Given the description of an element on the screen output the (x, y) to click on. 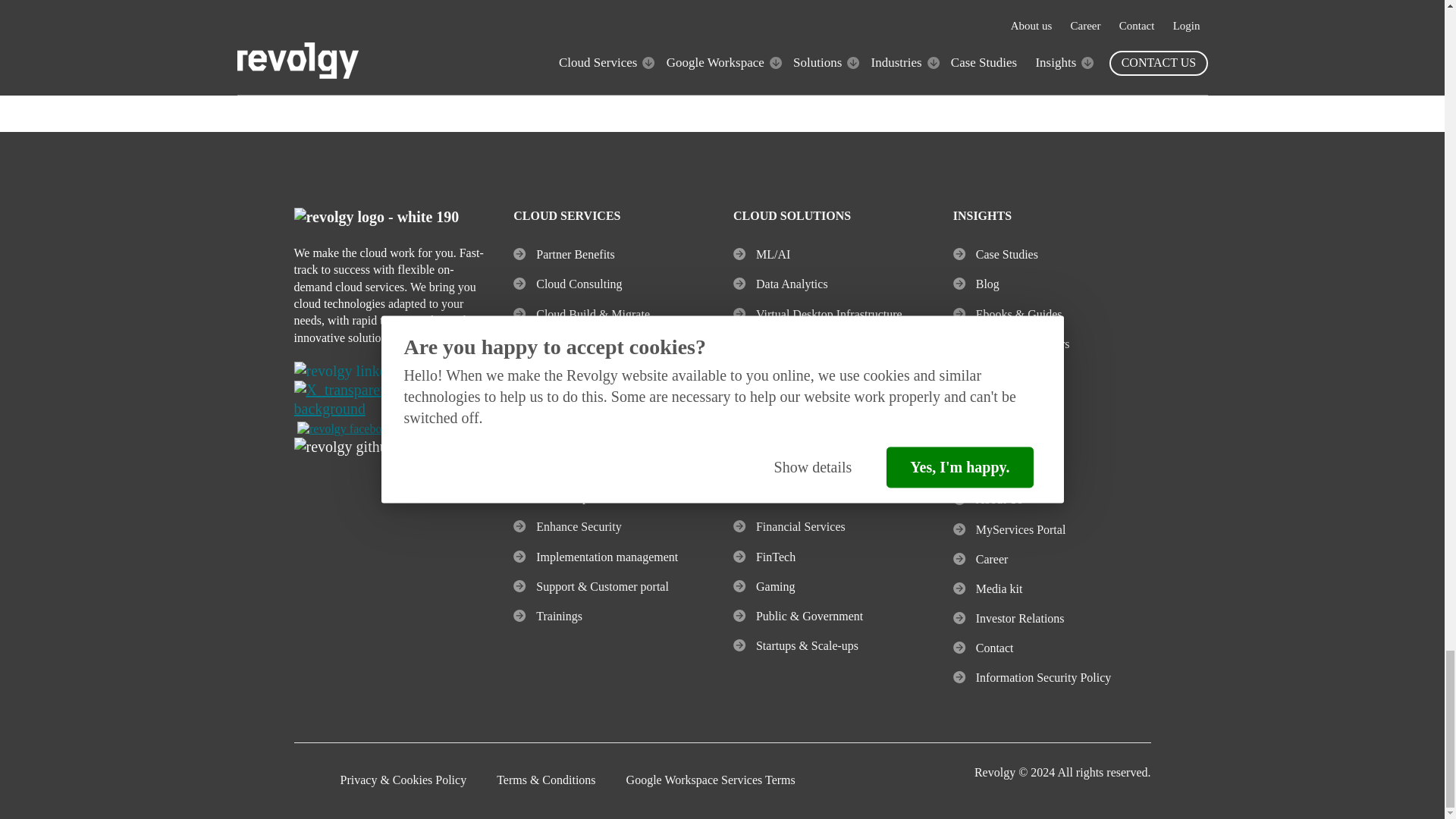
Subscribe (962, 36)
